Given the description of an element on the screen output the (x, y) to click on. 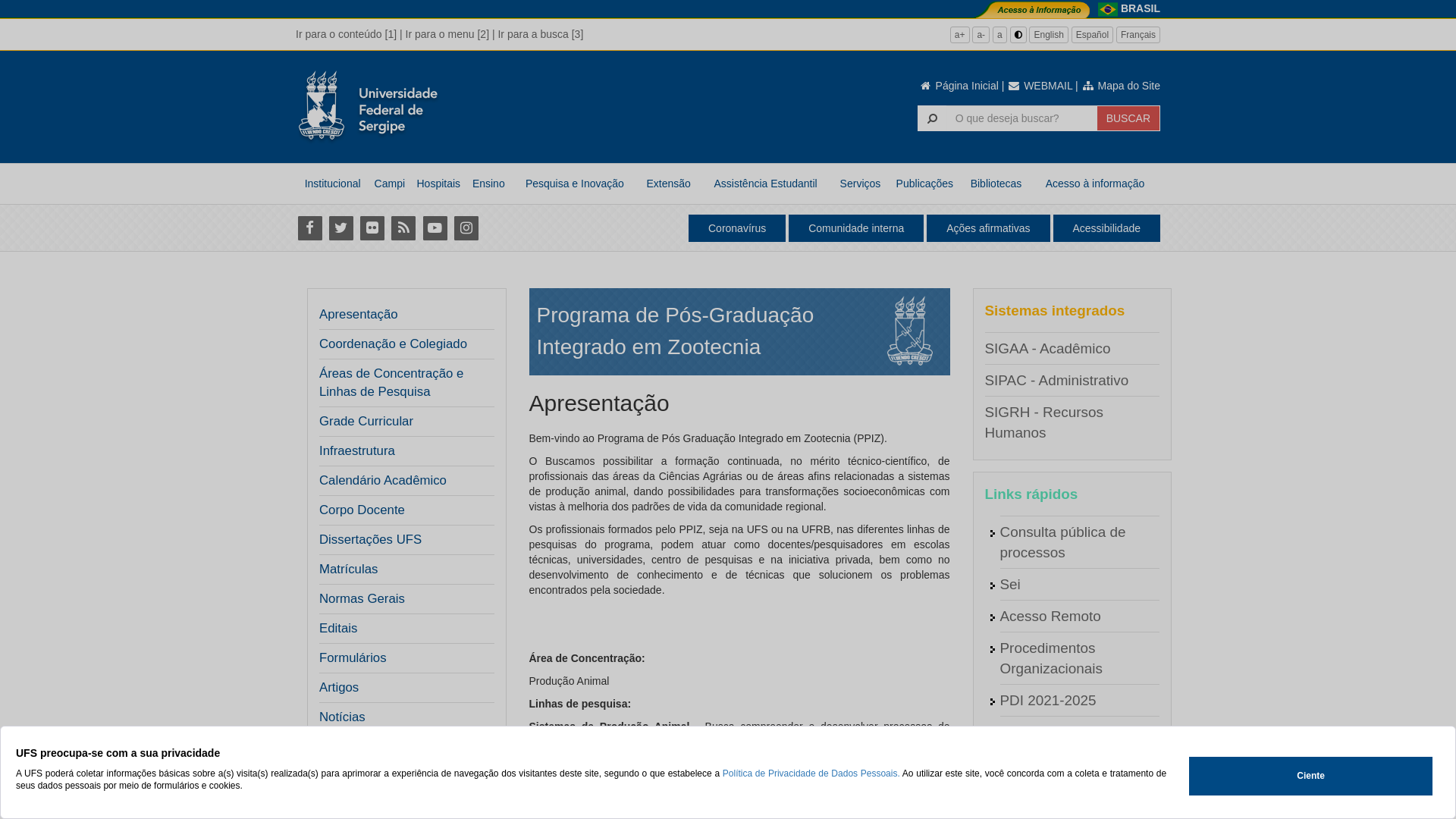
Editais Element type: text (402, 628)
SIPAC - Administrativo Element type: text (1056, 380)
Facebook Element type: text (309, 227)
SIGRH - Recursos Humanos Element type: text (1043, 422)
Normas Gerais Element type: text (361, 598)
a Element type: text (999, 34)
Resultados Element type: text (350, 746)
Hospitais Element type: text (438, 183)
Mapa do Site Element type: text (1120, 85)
Youtube Element type: text (434, 227)
PDI 2021-2025 Element type: text (1047, 700)
Sei Element type: text (1009, 584)
Infraestrutura Element type: text (357, 450)
Acesso Remoto Element type: text (1049, 616)
Ir para a busca [3] Element type: text (540, 34)
Institucional Element type: text (332, 183)
Campi Element type: text (389, 183)
RSS Element type: text (403, 227)
BUSCAR Element type: text (1128, 118)
Grade Curricular Element type: text (366, 421)
Procedimentos Organizacionais Element type: text (1050, 658)
a- Element type: text (980, 34)
Twitter Element type: text (340, 227)
Acessibilidade Element type: text (1106, 227)
Artigos Element type: text (338, 687)
Agenda do Reitor Element type: text (1054, 732)
Ensino Element type: text (488, 183)
BRASIL Element type: text (1140, 8)
English Element type: text (1048, 34)
Eventos Element type: text (342, 776)
Instagram Element type: text (465, 227)
Ir para o menu [2] Element type: text (447, 34)
Bibliotecas Element type: text (995, 183)
Corpo Docente Element type: text (361, 509)
Agenda do Vice-Reitor Element type: text (1071, 763)
Comunidade interna Element type: text (855, 227)
Telefones Element type: text (1029, 795)
Flickr Element type: text (371, 227)
WEBMAIL Element type: text (1039, 85)
a+ Element type: text (959, 34)
